Given the description of an element on the screen output the (x, y) to click on. 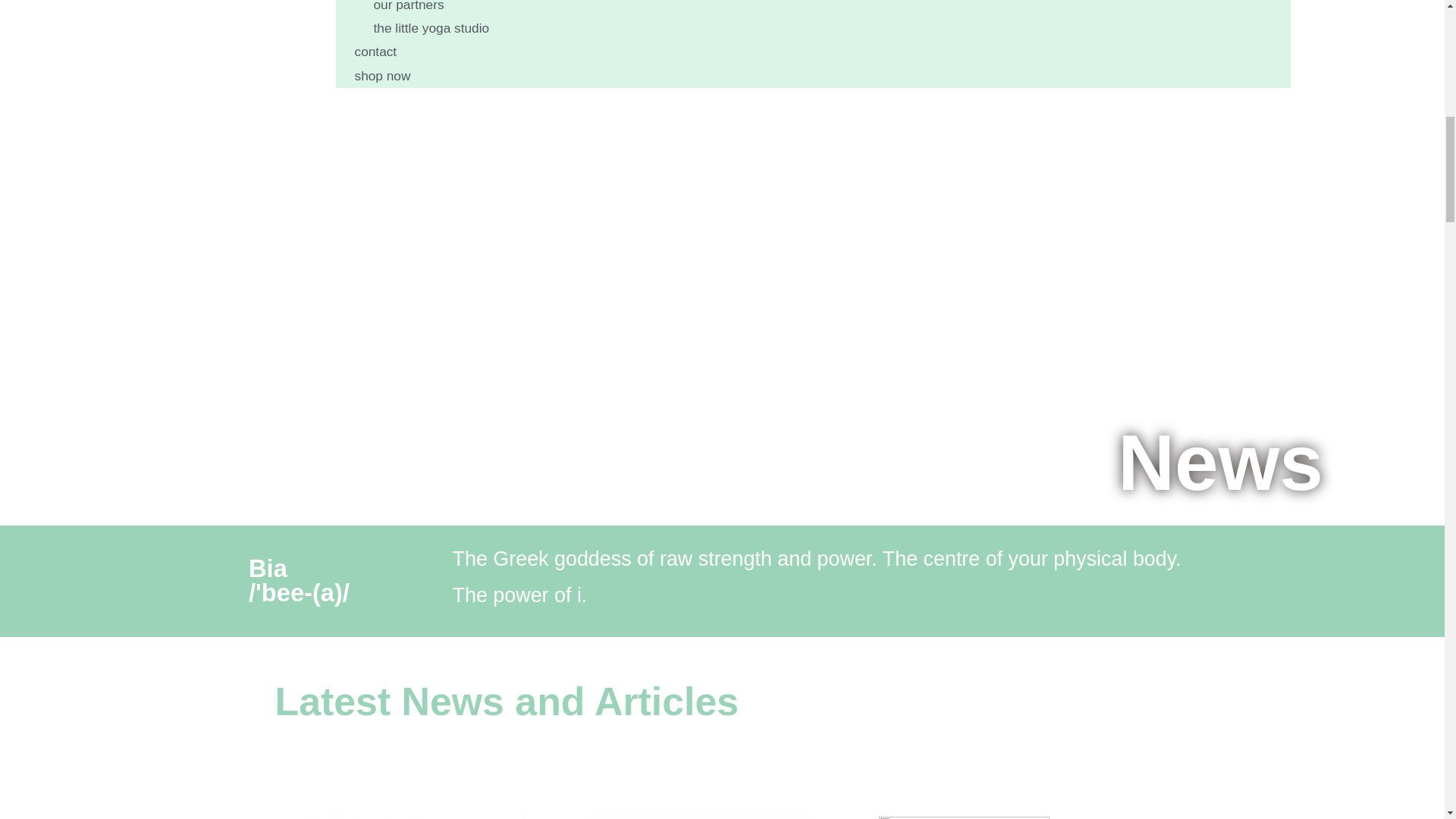
our partners (408, 7)
shop now (381, 75)
the little yoga studio (431, 27)
contact (375, 51)
